Given the description of an element on the screen output the (x, y) to click on. 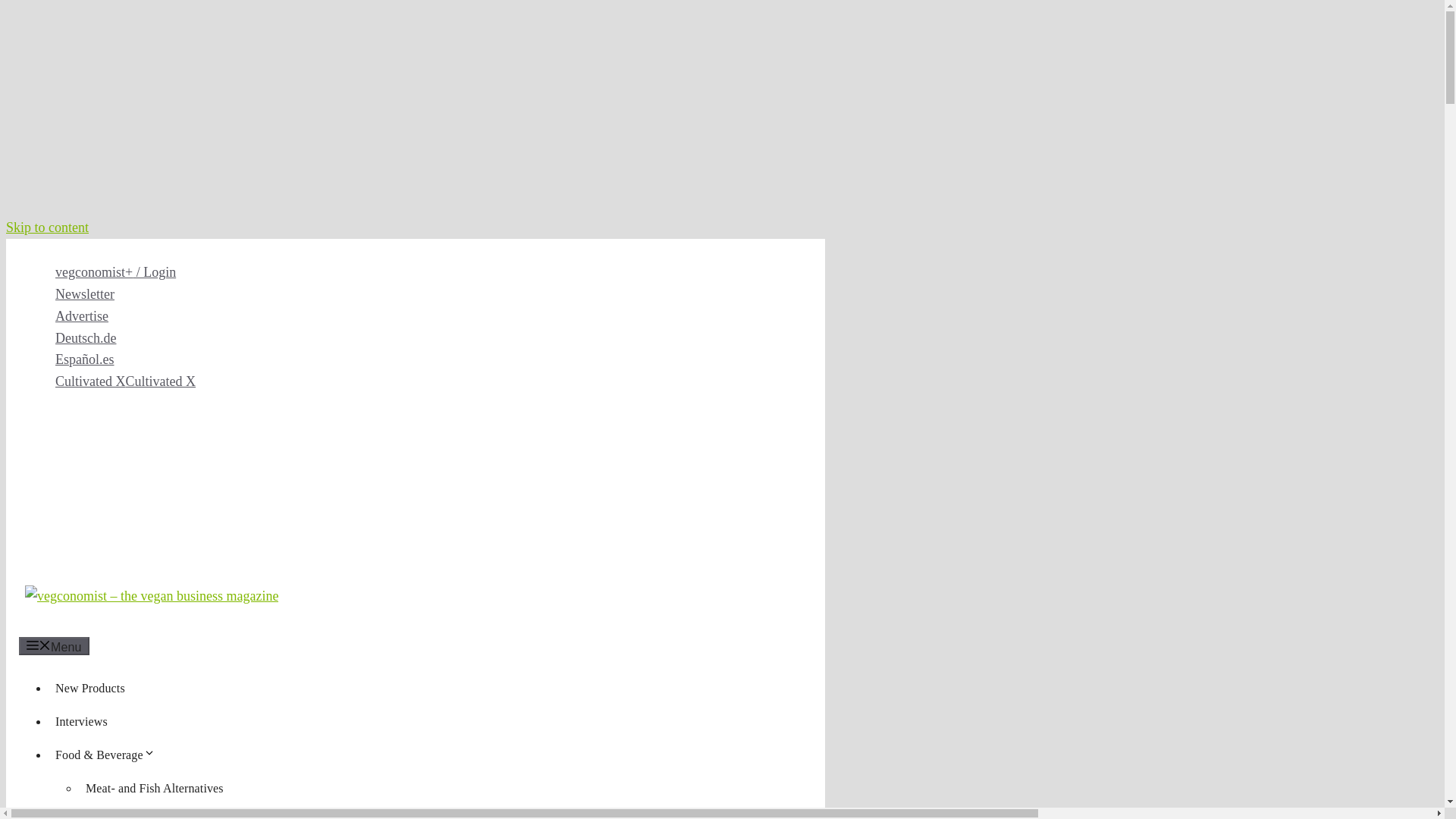
Deutsch.de (85, 337)
Skip to content (46, 227)
Menu (53, 646)
Skip to content (46, 227)
New Products (90, 687)
Meat- and Fish Alternatives (155, 788)
Advertise (81, 315)
Newsletter (85, 294)
Cultivated XCultivated X (125, 381)
Cheese Alternatives (135, 814)
Interviews (81, 721)
